Given the description of an element on the screen output the (x, y) to click on. 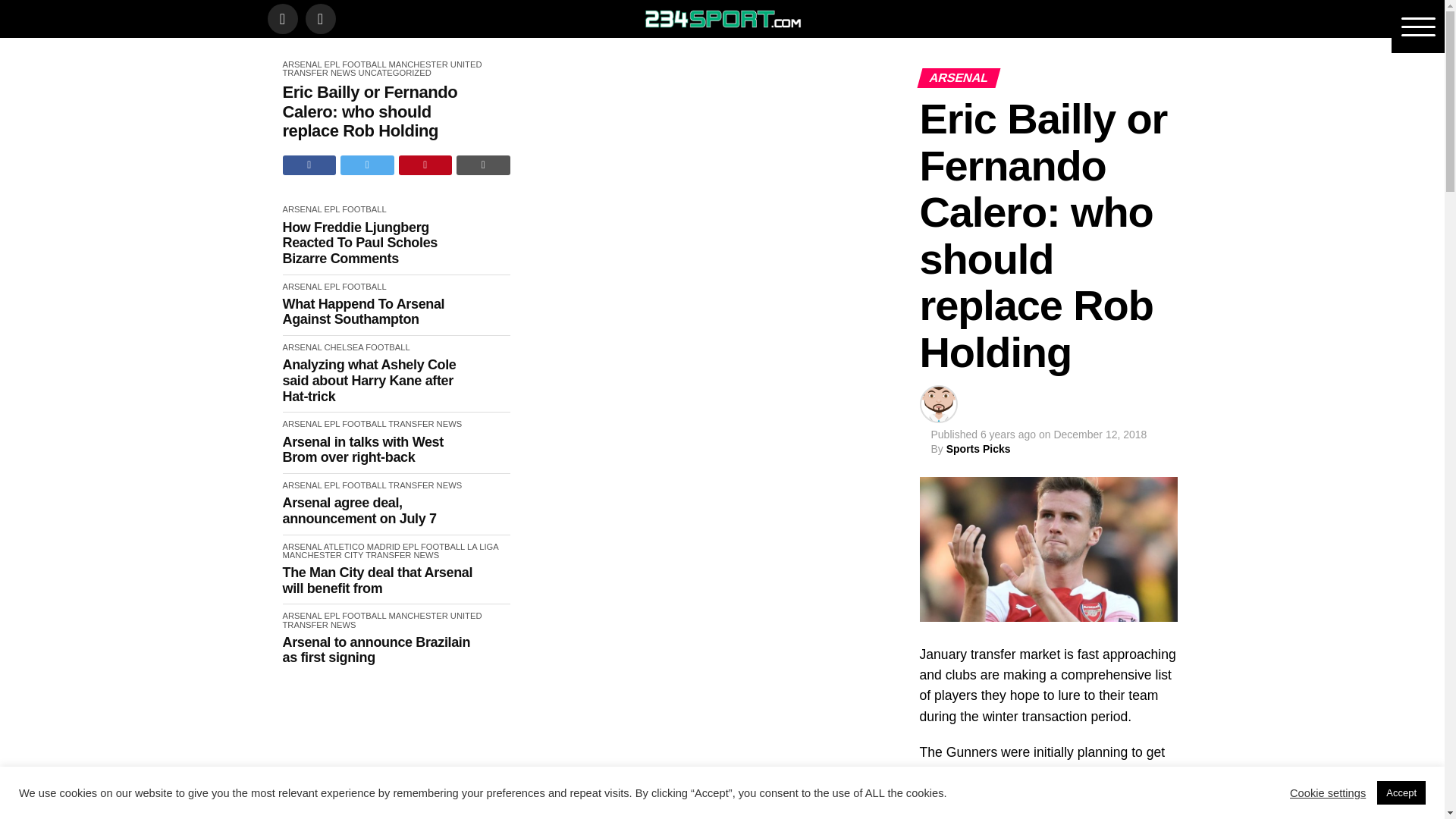
Share on Facebook (309, 165)
Pin This Post (425, 165)
Tweet This Post (367, 165)
